Given the description of an element on the screen output the (x, y) to click on. 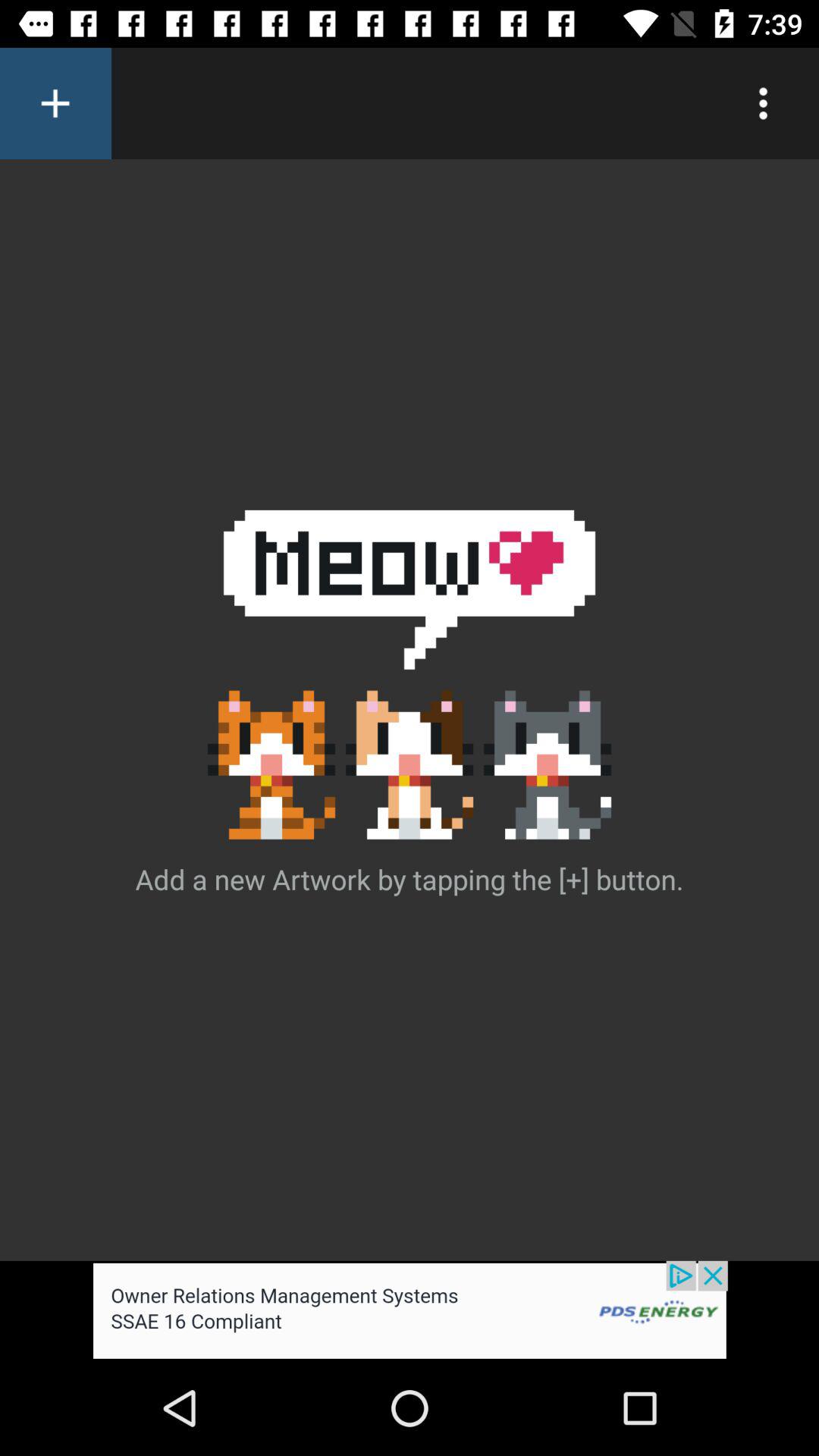
go to add option (55, 103)
